Given the description of an element on the screen output the (x, y) to click on. 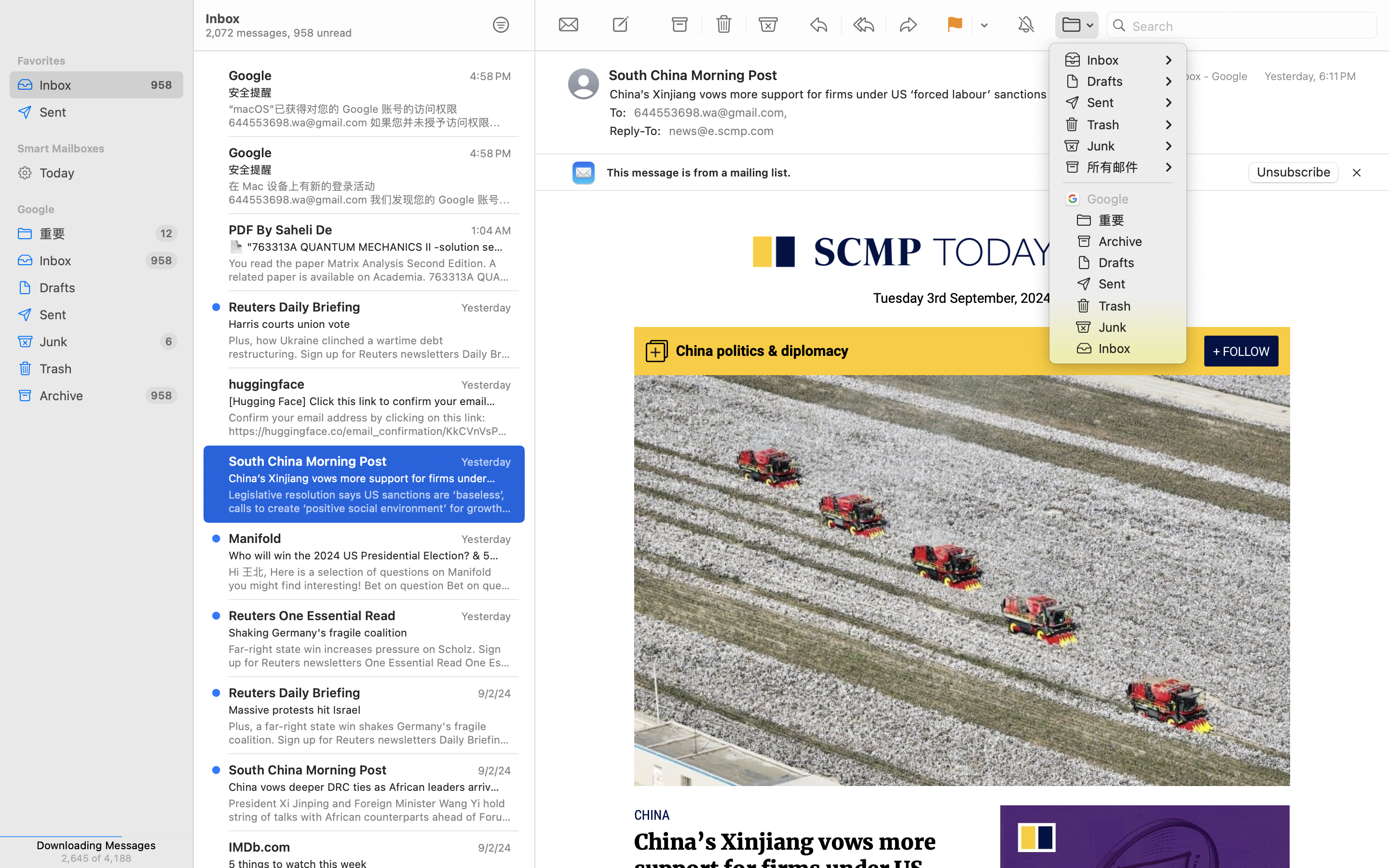
📄 "763313A QUANTUM MECHANICS II -solution set 2 -spring 2014" by Saheli De Element type: AXStaticText (365, 246)
Trash Element type: AXStaticText (107, 368)
Junk Element type: AXStaticText (95, 341)
Reuters One Essential Read Element type: AXStaticText (311, 615)
Manifold Element type: AXStaticText (254, 537)
